Given the description of an element on the screen output the (x, y) to click on. 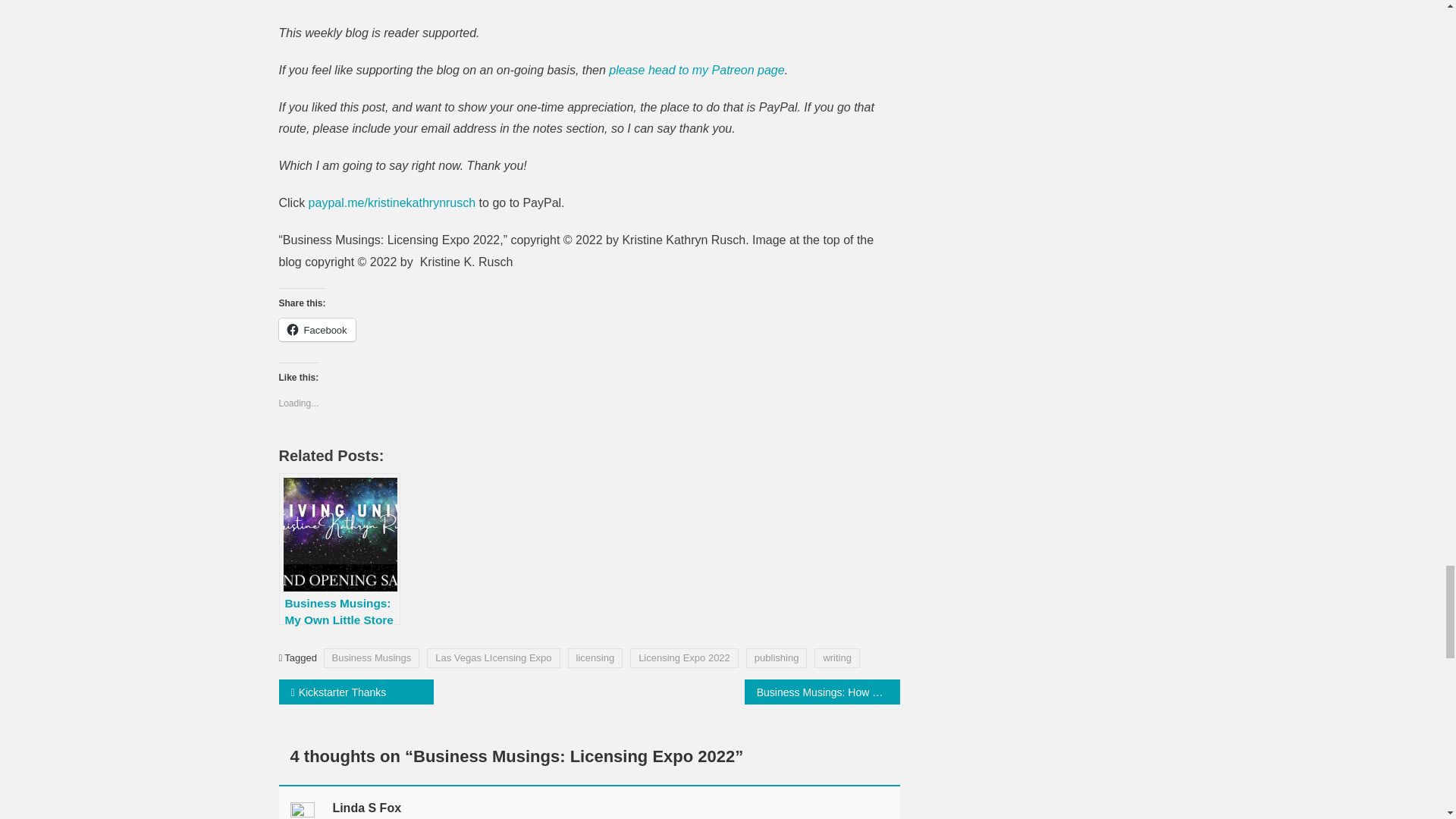
please head to my Patreon page (696, 69)
Facebook (317, 329)
Click to share on Facebook (317, 329)
